Given the description of an element on the screen output the (x, y) to click on. 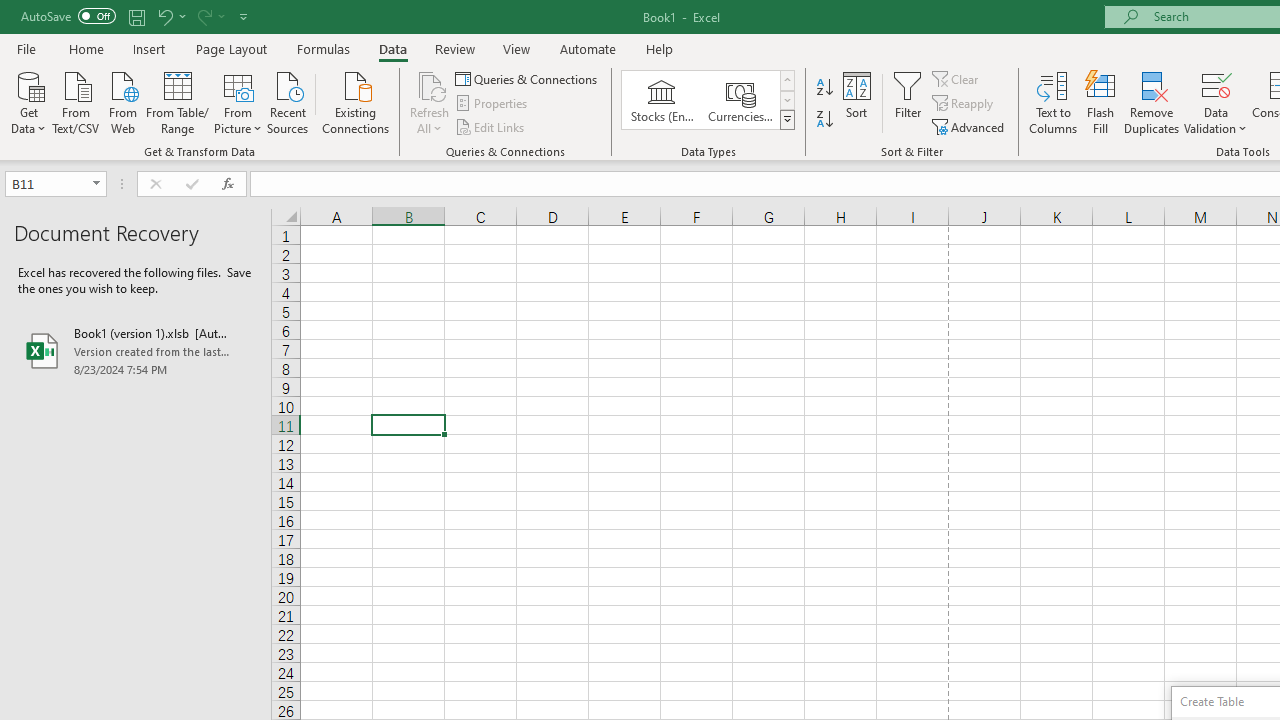
Reapply (964, 103)
Flash Fill (1101, 102)
Sort... (856, 102)
